Given the description of an element on the screen output the (x, y) to click on. 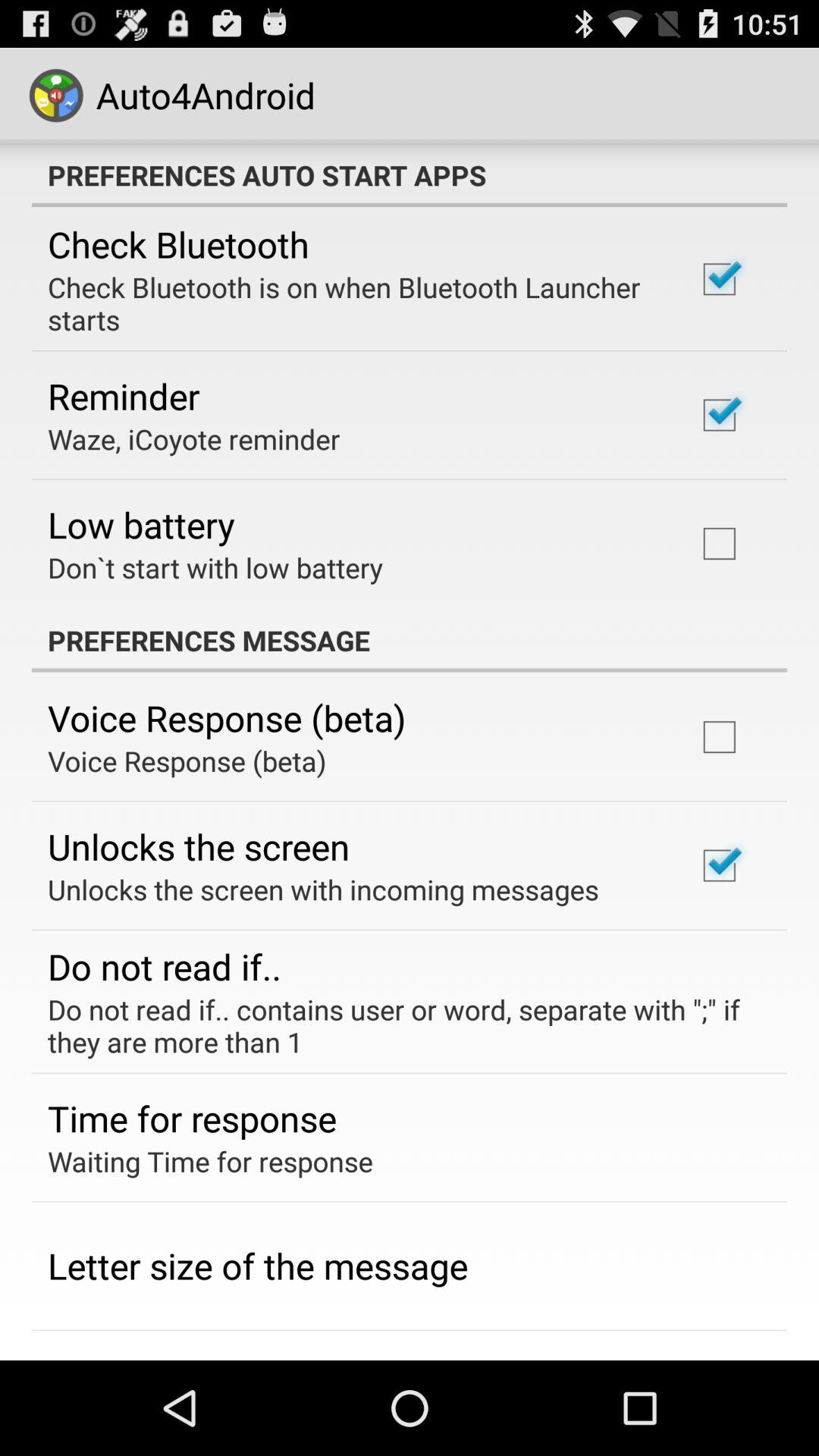
jump to letter size of (257, 1265)
